Given the description of an element on the screen output the (x, y) to click on. 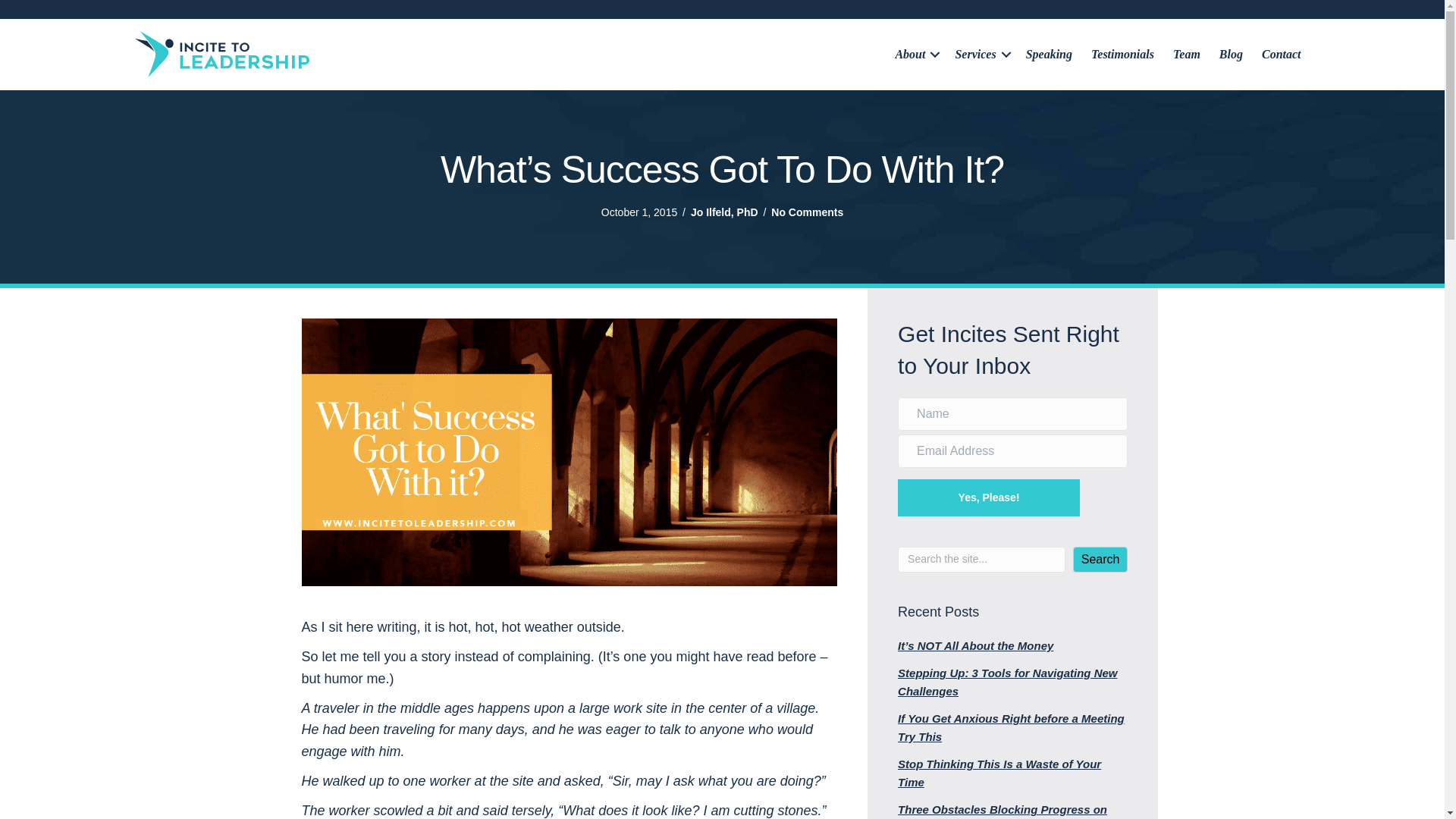
If You Get Anxious Right before a Meeting Try This (1011, 726)
Stop Thinking This Is a Waste of Your Time (999, 772)
Search (1100, 559)
Services (979, 54)
Testimonials (1122, 54)
Stepping Up: 3 Tools for Navigating New Challenges (1007, 681)
No Comments (807, 212)
Yes, Please! (989, 497)
incite-to-leadership-logo (221, 53)
